Given the description of an element on the screen output the (x, y) to click on. 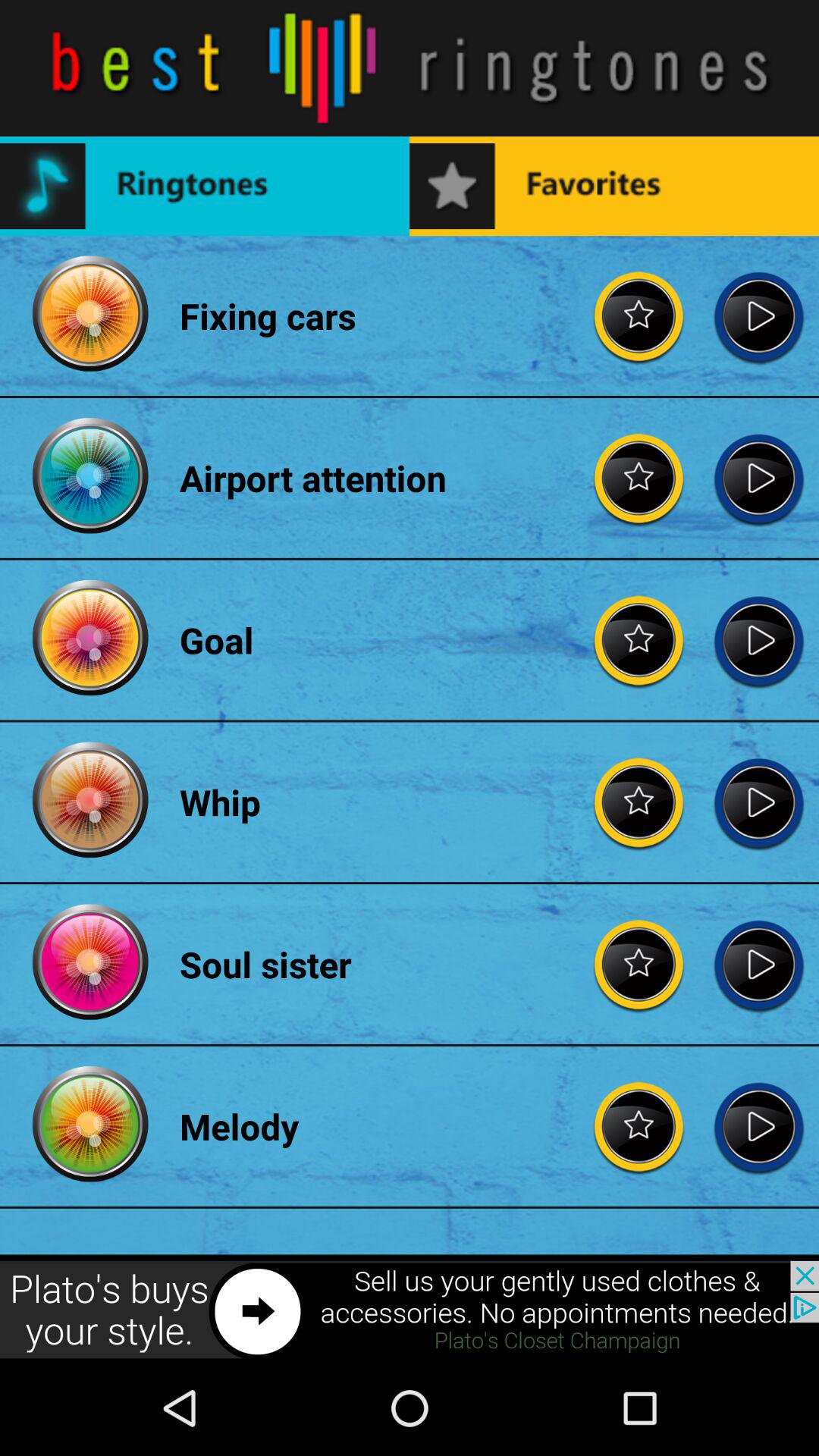
click to play (758, 801)
